Given the description of an element on the screen output the (x, y) to click on. 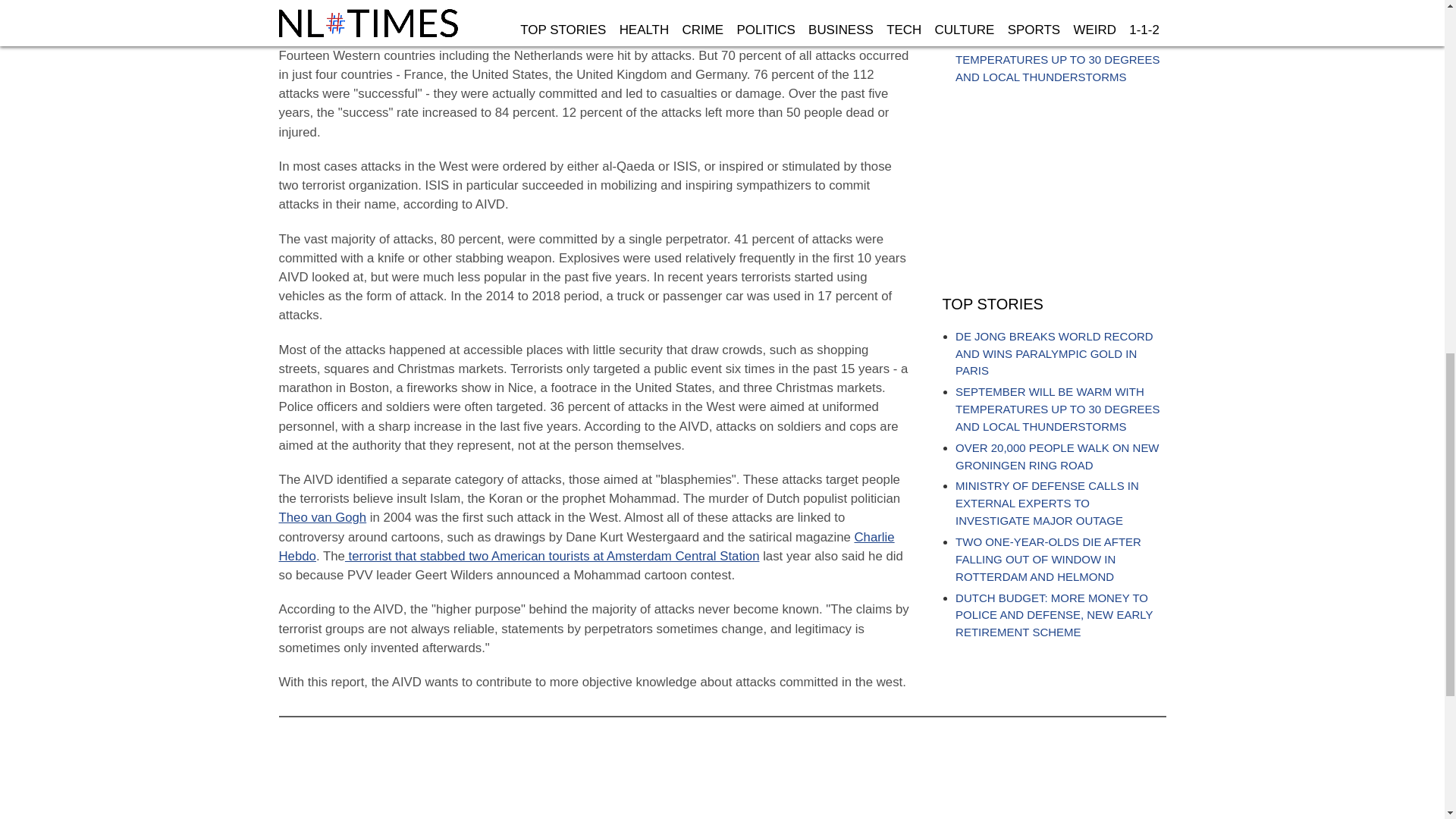
Charlie Hebdo (587, 546)
Theo van Gogh (322, 517)
